Given the description of an element on the screen output the (x, y) to click on. 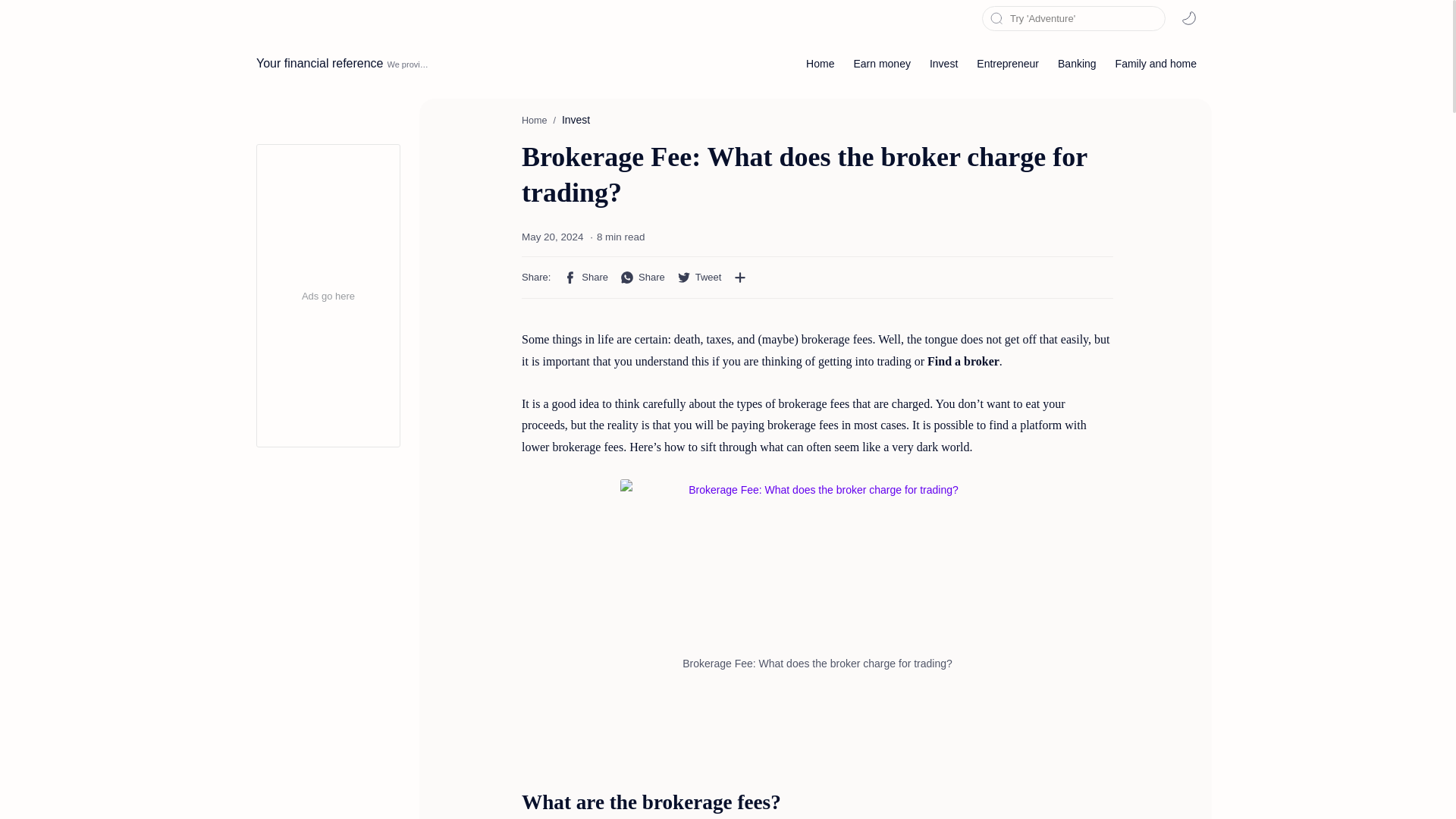
Invest (944, 63)
Banking (1077, 63)
Published: May 20, 2024 (552, 236)
Invest (575, 119)
Home (534, 120)
Home (820, 63)
Family and home (1155, 63)
Entrepreneur (1007, 63)
Brokerage Fee: What does the broker charge for trading? (817, 567)
Your financial reference (320, 63)
